Given the description of an element on the screen output the (x, y) to click on. 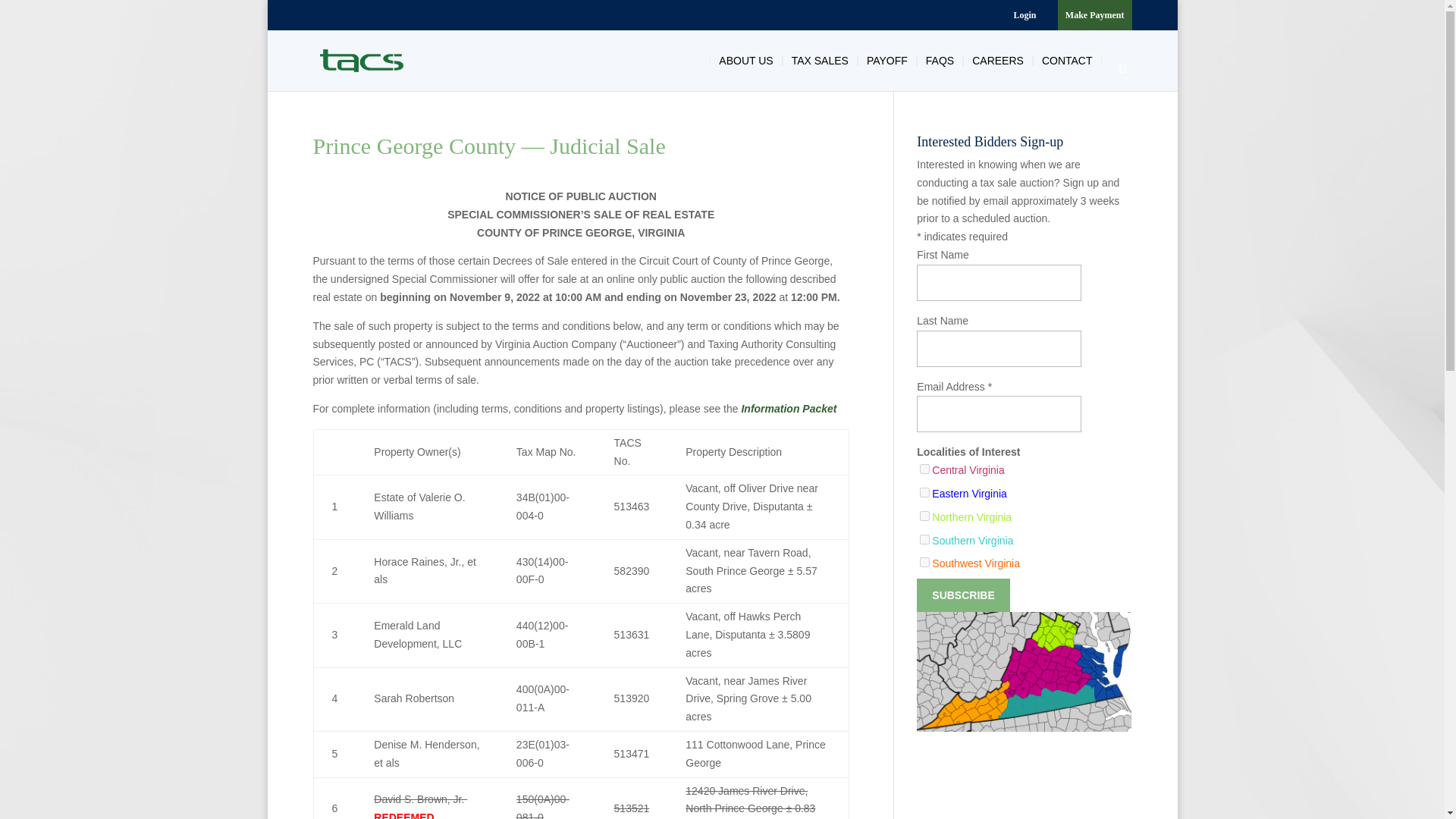
FAQS (939, 60)
8 (925, 539)
TAX SALES (820, 60)
16 (925, 562)
1 (925, 469)
PAYOFF (887, 60)
Subscribe (963, 594)
2 (925, 492)
Login (1024, 18)
ABOUT US (745, 60)
Information Packet (788, 408)
CAREERS (997, 60)
4 (925, 515)
CONTACT (1067, 60)
Make Payment (1094, 18)
